Given the description of an element on the screen output the (x, y) to click on. 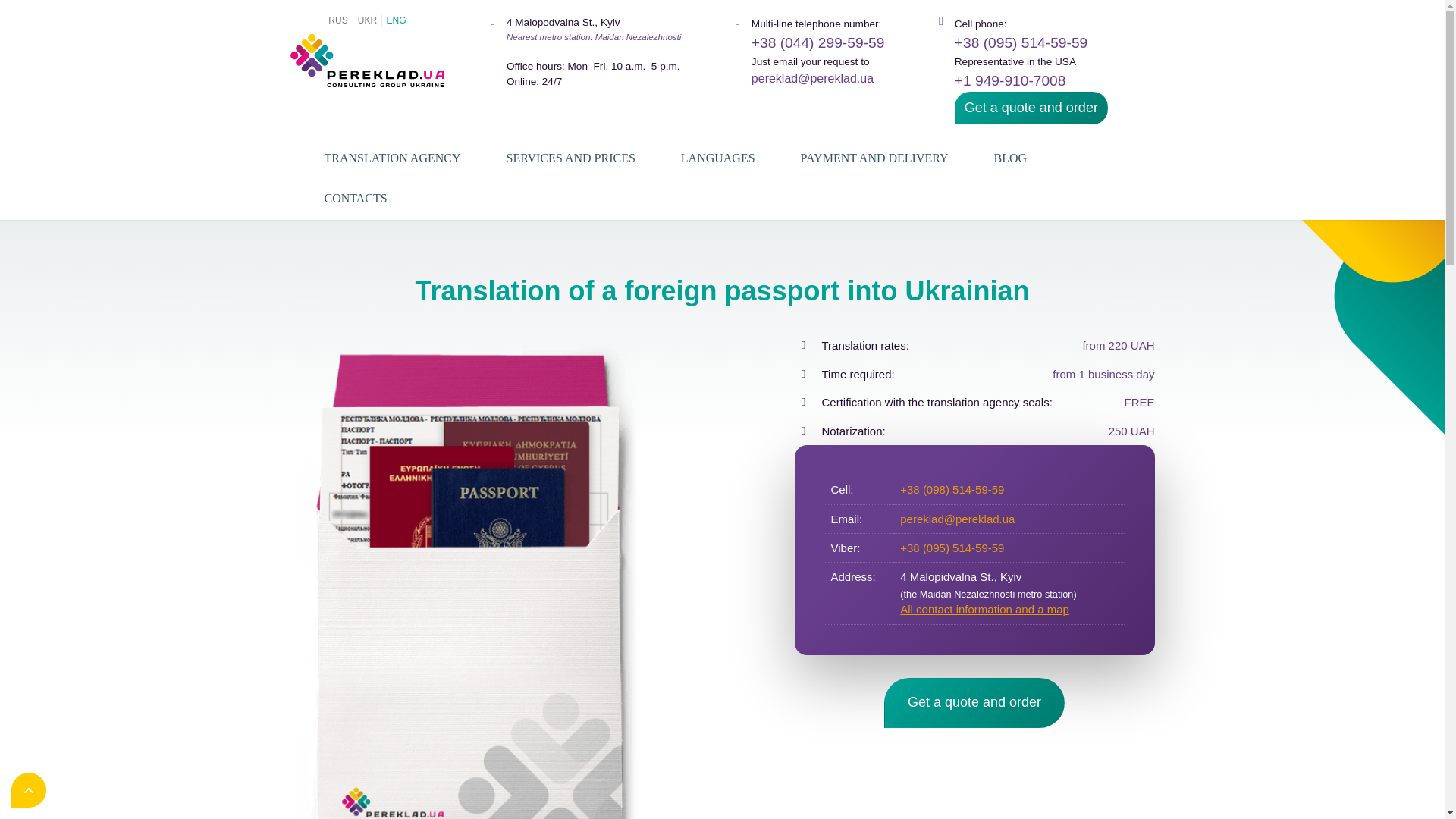
TRANSLATION AGENCY (392, 159)
UKR (366, 20)
HOME (333, 193)
PAYMENT AND DELIVERY (874, 159)
SERVICES AND PRICES (570, 159)
BLOG (1010, 159)
pereklad-logo-en image (366, 60)
ENG (395, 20)
RUS (337, 20)
LANGUAGES (718, 159)
